Given the description of an element on the screen output the (x, y) to click on. 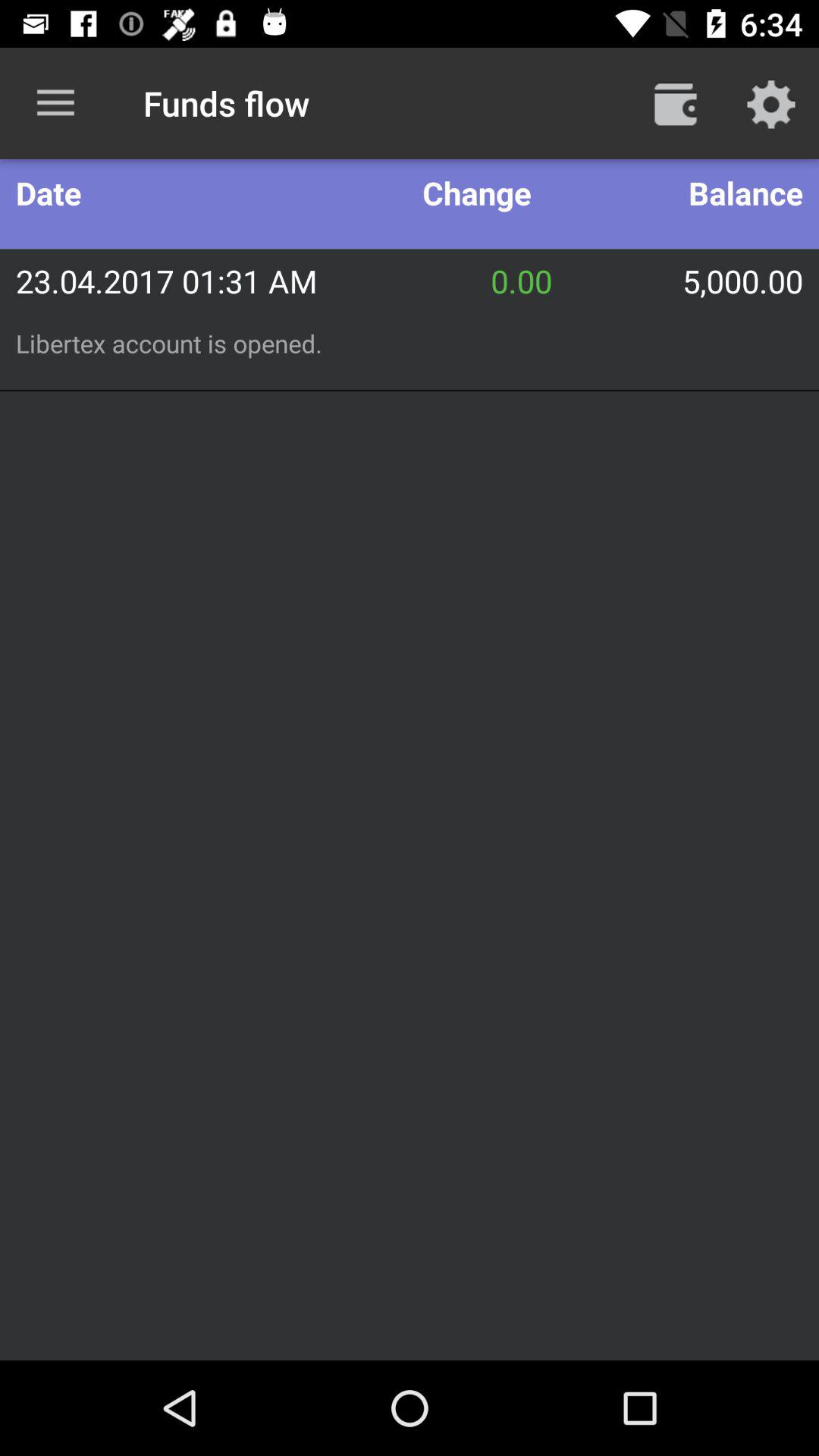
open wallet (675, 103)
